Given the description of an element on the screen output the (x, y) to click on. 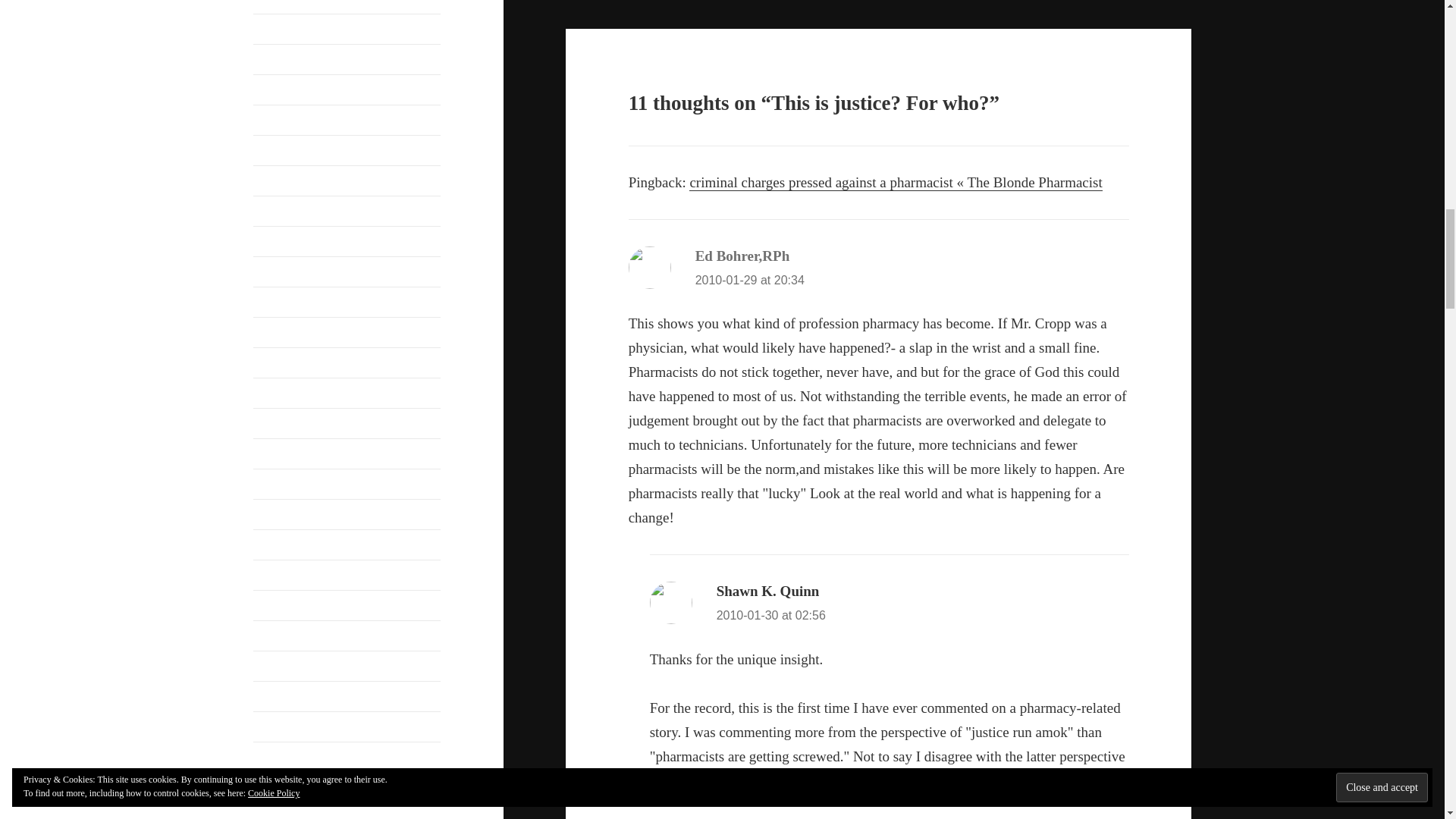
May 2022 (277, 301)
November 2022 (292, 210)
May 2023 (277, 29)
June 2022 (277, 271)
October 2022 (286, 241)
January 2023 (285, 150)
April 2022 (279, 332)
February 2023 (288, 119)
June 2023 (277, 2)
March 2023 (283, 89)
April 2023 (279, 59)
December 2022 (291, 180)
February 2022 (288, 362)
